Given the description of an element on the screen output the (x, y) to click on. 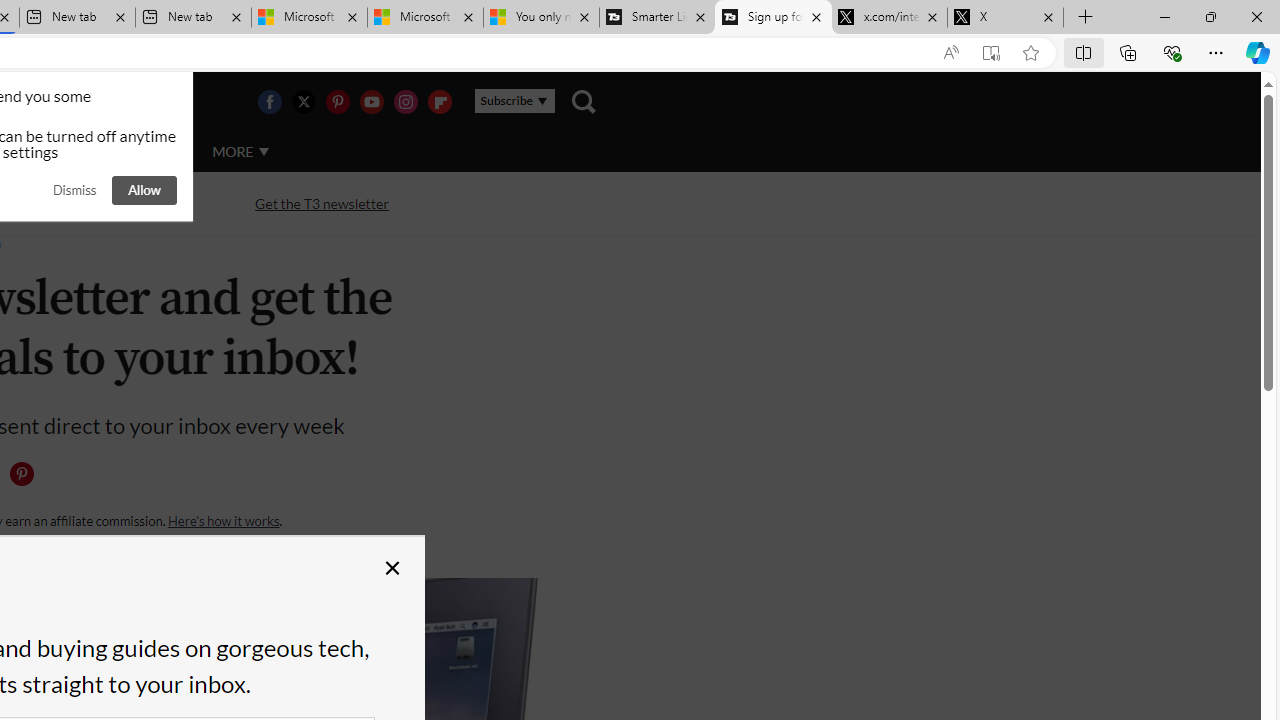
Visit us on Flipboard (439, 101)
Streaming TV and movies (105, 204)
Visit us on Facebook (269, 101)
Visit us on Twitter (303, 101)
LUXURY (66, 151)
Enter Immersive Reader (F9) (991, 53)
Streaming TV and movies (105, 202)
